Given the description of an element on the screen output the (x, y) to click on. 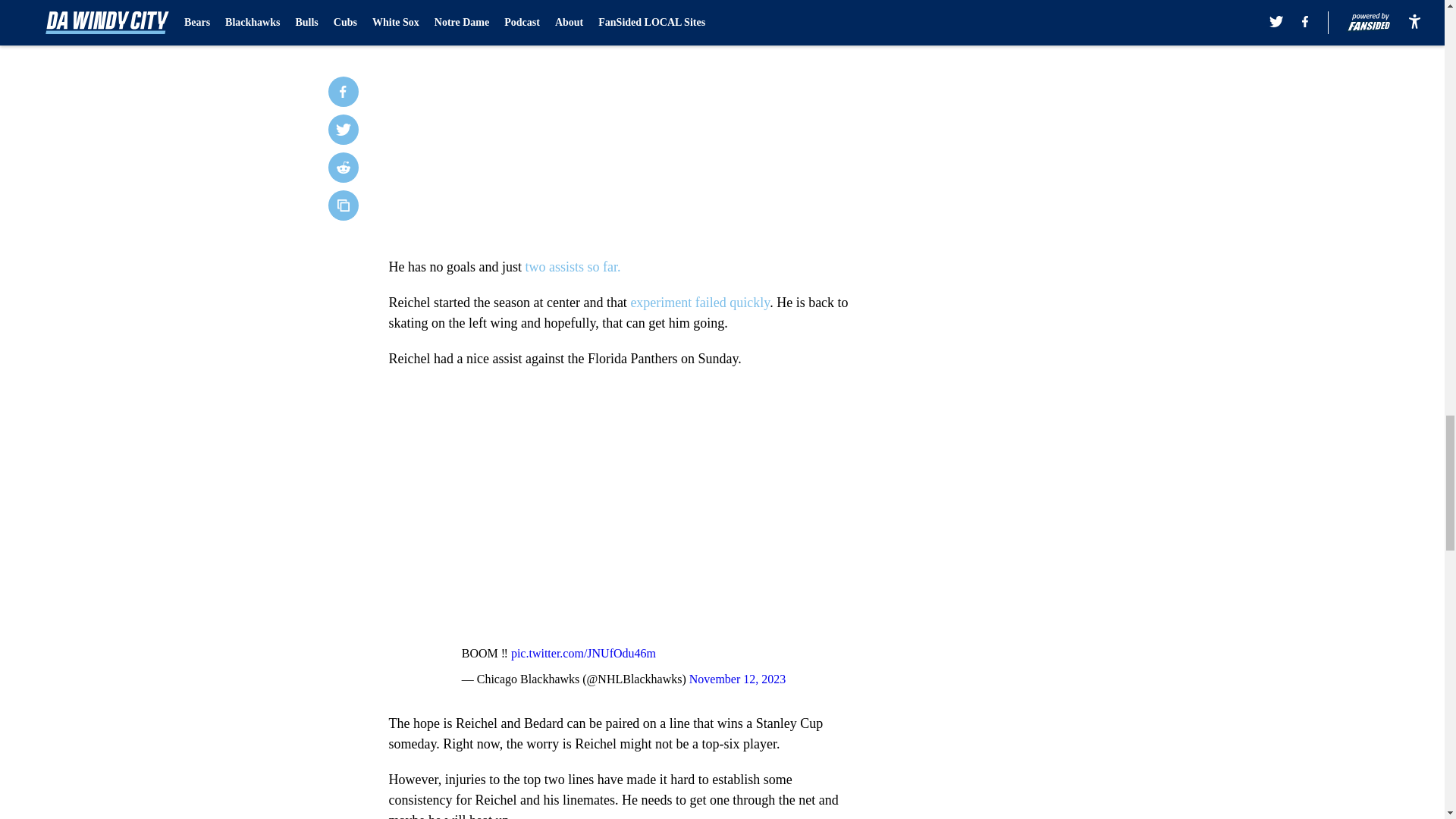
experiment failed quickly (700, 302)
two assists so far. (572, 266)
November 12, 2023 (737, 678)
